Given the description of an element on the screen output the (x, y) to click on. 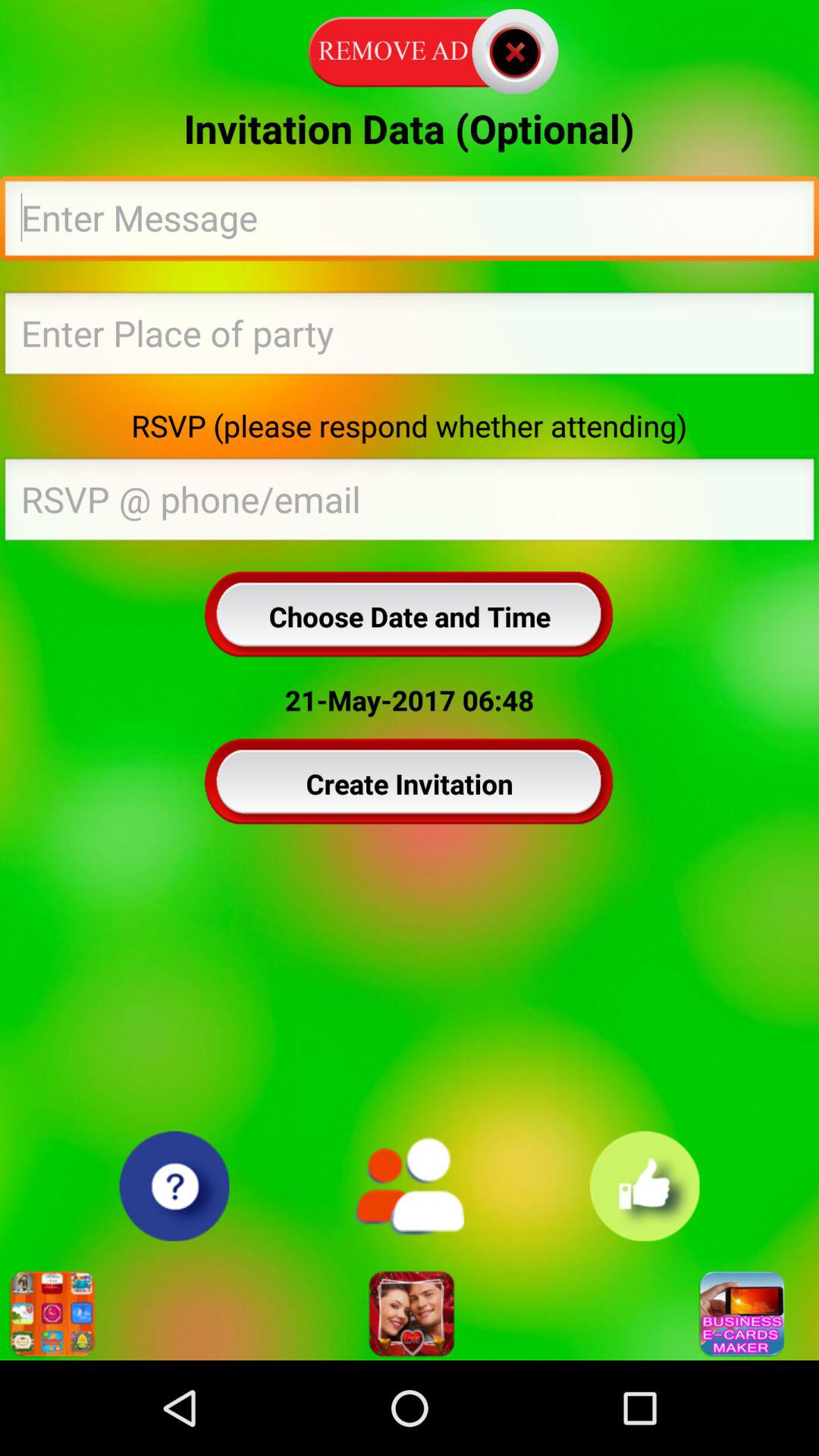
flip to the choose date and icon (409, 616)
